Given the description of an element on the screen output the (x, y) to click on. 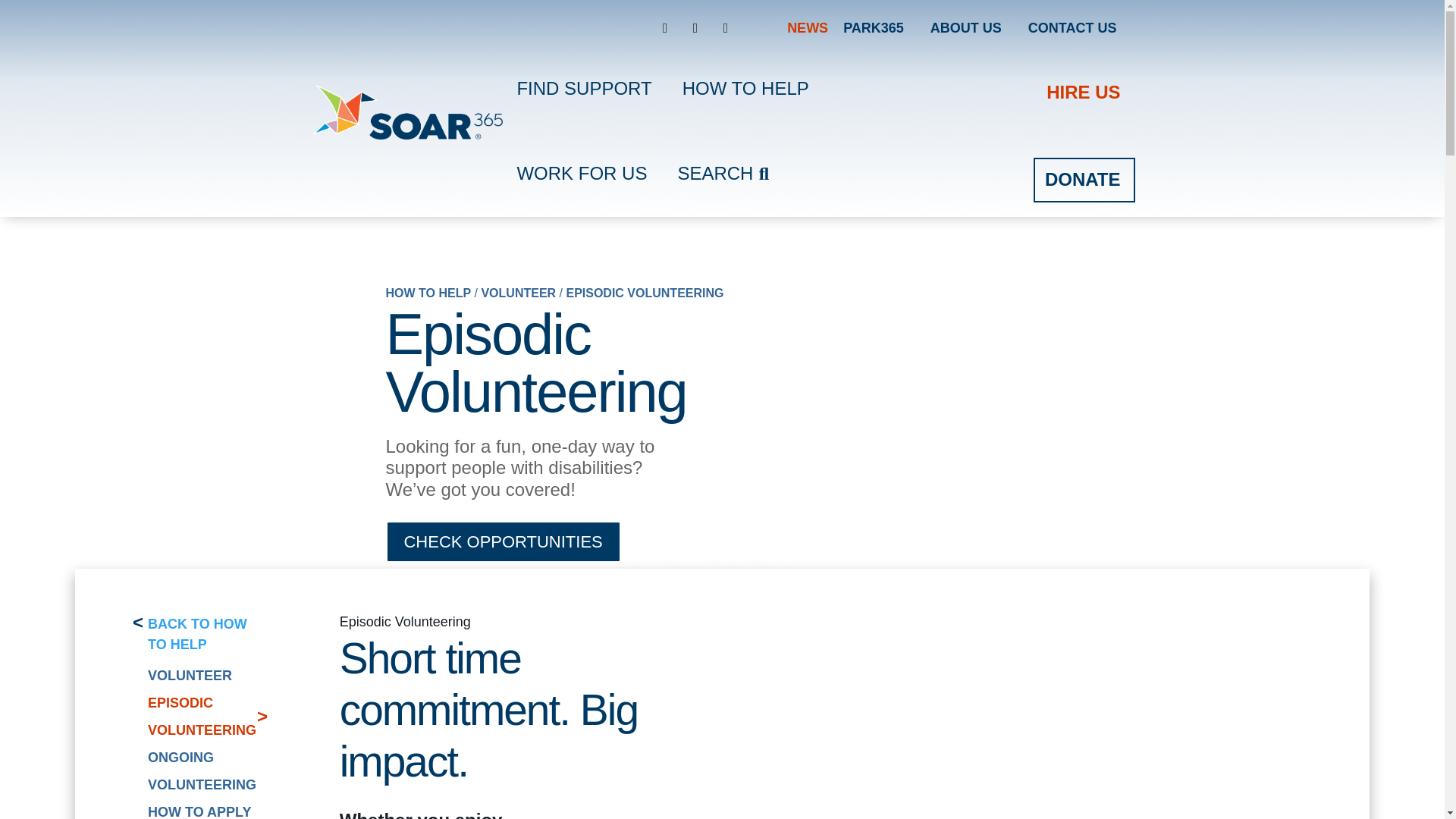
WORK FOR US (581, 173)
Episodic Volunteering (644, 292)
Follow on Instagram (694, 27)
PARK365 (873, 27)
Follow on LinkedIn (725, 27)
Follow (725, 27)
How to Help (427, 292)
Follow (694, 27)
ABOUT US (965, 27)
Follow on Facebook (664, 27)
